Given the description of an element on the screen output the (x, y) to click on. 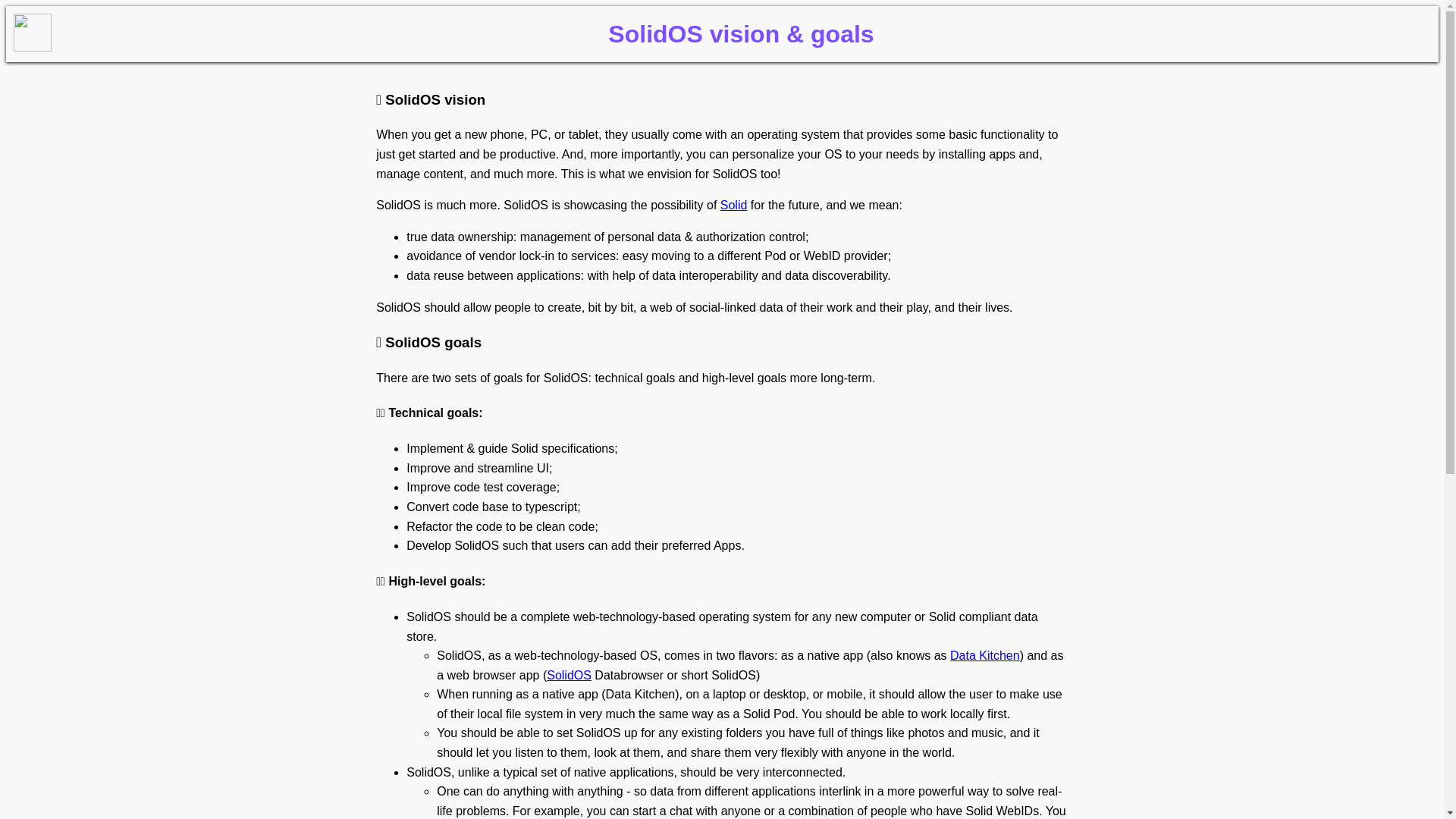
Data Kitchen (985, 655)
SolidOS (569, 675)
Solid (734, 205)
